Given the description of an element on the screen output the (x, y) to click on. 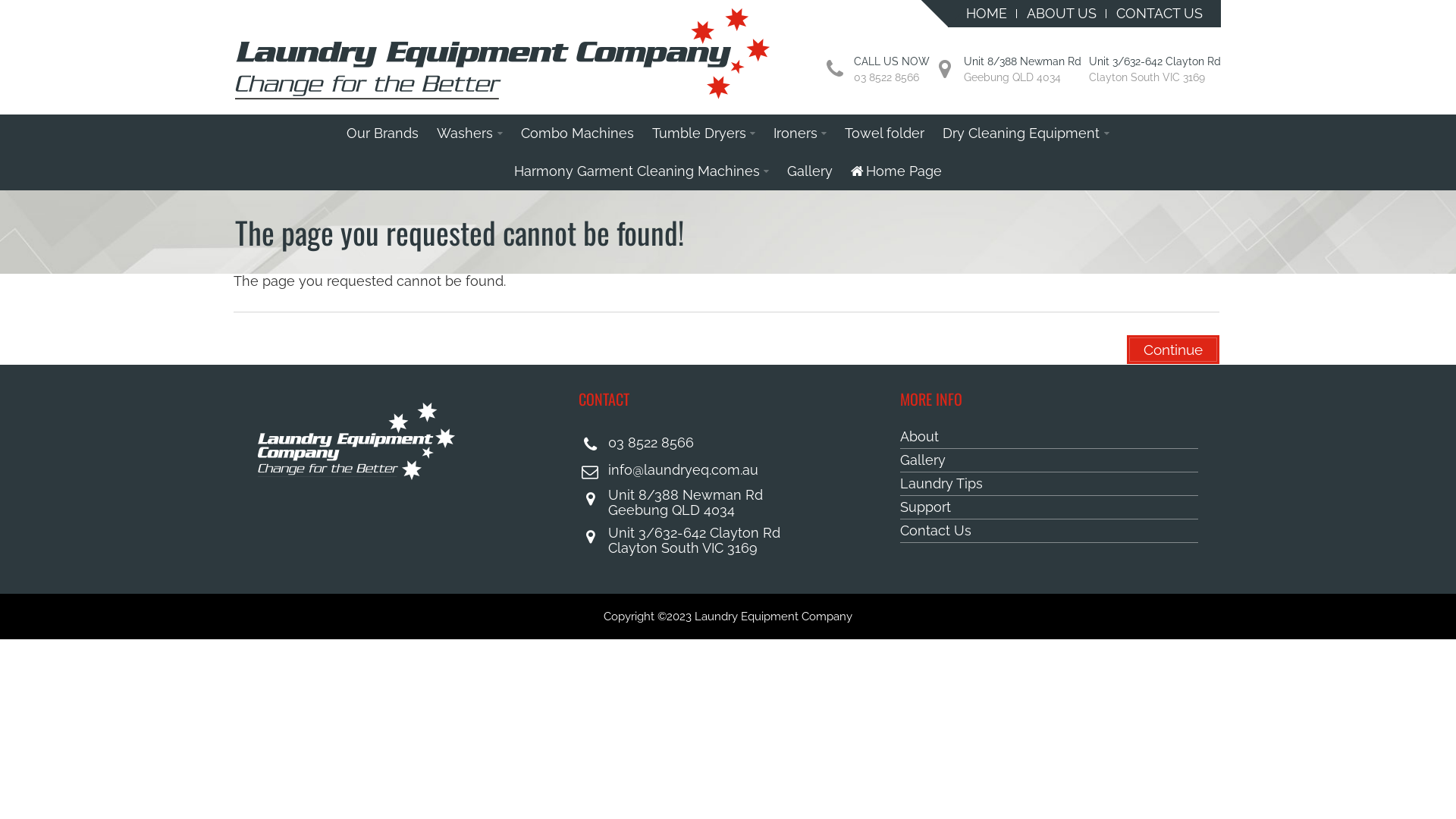
HOME Element type: text (986, 13)
Unit 8/388 Newman Rd
Geebung QLD 4034 Element type: text (1022, 69)
Contact Us Element type: text (1049, 530)
Tumble Dryers Element type: text (703, 133)
CALL US NOW
03 8522 8566 Element type: text (891, 69)
Continue Element type: text (1172, 349)
Ironers Element type: text (799, 133)
Dry Cleaning Equipment Element type: text (1025, 133)
About Element type: text (1049, 436)
Washers Element type: text (469, 133)
Gallery Element type: text (809, 171)
Harmony Garment Cleaning Machines Element type: text (641, 171)
Unit 3/632-642 Clayton Rd
Clayton South VIC 3169 Element type: text (1154, 69)
Combo Machines Element type: text (577, 133)
Laundry Tips Element type: text (1049, 483)
ABOUT US Element type: text (1061, 13)
Home Page Element type: text (896, 171)
Gallery Element type: text (1049, 460)
Our Brands Element type: text (382, 133)
CONTACT US Element type: text (1159, 13)
Towel folder Element type: text (884, 133)
Support Element type: text (1049, 507)
